Given the description of an element on the screen output the (x, y) to click on. 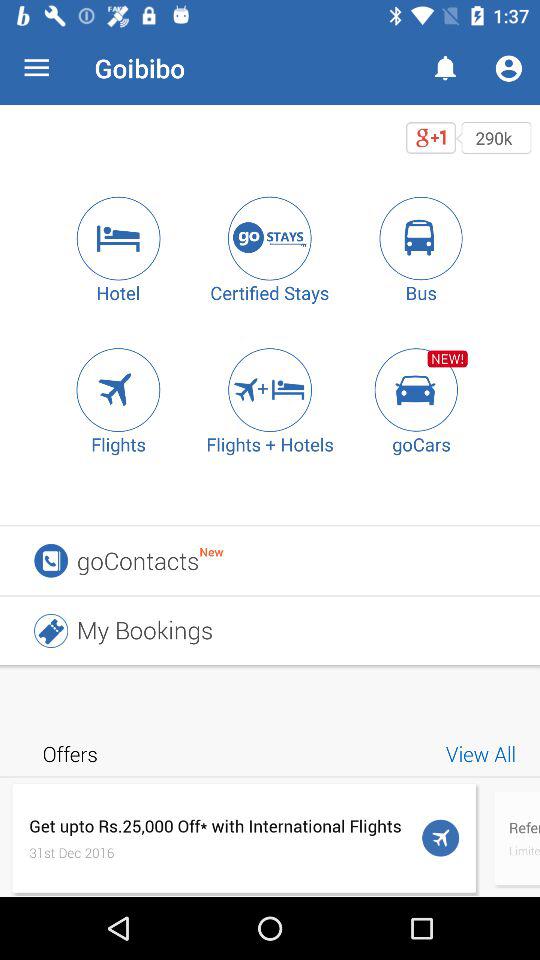
click icon above the gocars icon (421, 389)
